Given the description of an element on the screen output the (x, y) to click on. 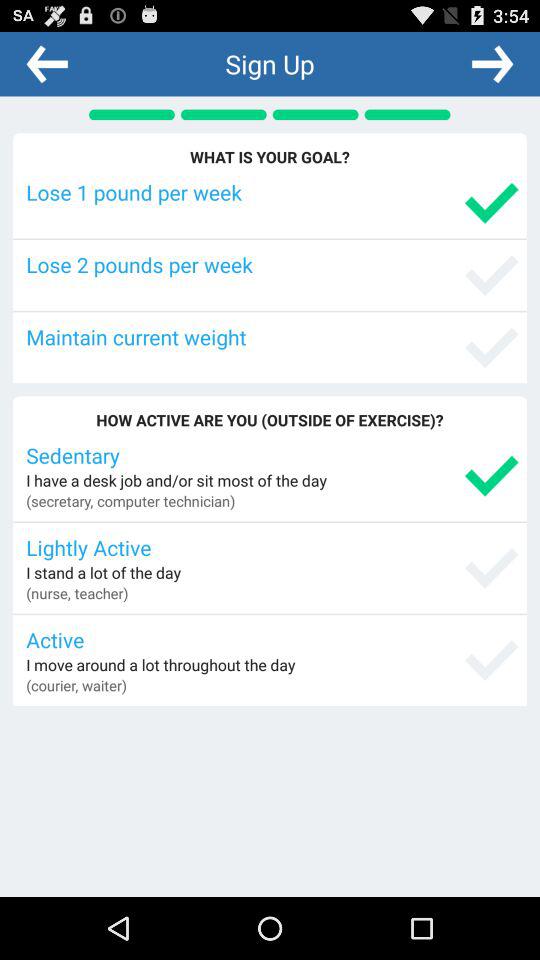
go to previous (47, 63)
